Given the description of an element on the screen output the (x, y) to click on. 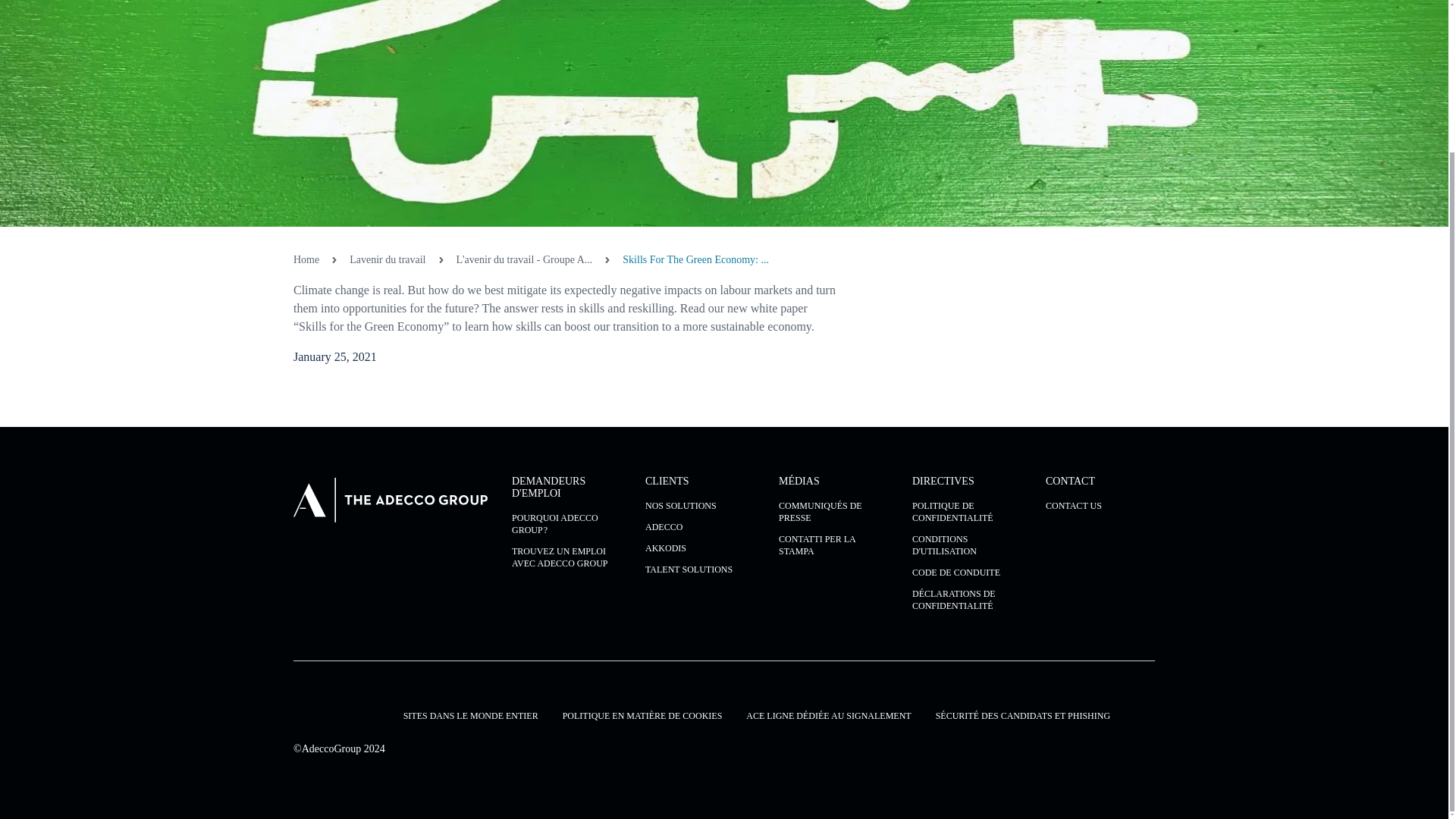
TROUVEZ UN EMPLOI AVEC ADECCO GROUP (566, 557)
TALENT SOLUTIONS (699, 569)
CONTATTI PER LA STAMPA (833, 545)
CONDITIONS D'UTILISATION (967, 545)
L'avenir du travail - Groupe A... (524, 259)
Home (306, 259)
CONTACT US (1099, 505)
Sites dans le monde entier  -link (470, 715)
Lavenir du travail (387, 259)
